Given the description of an element on the screen output the (x, y) to click on. 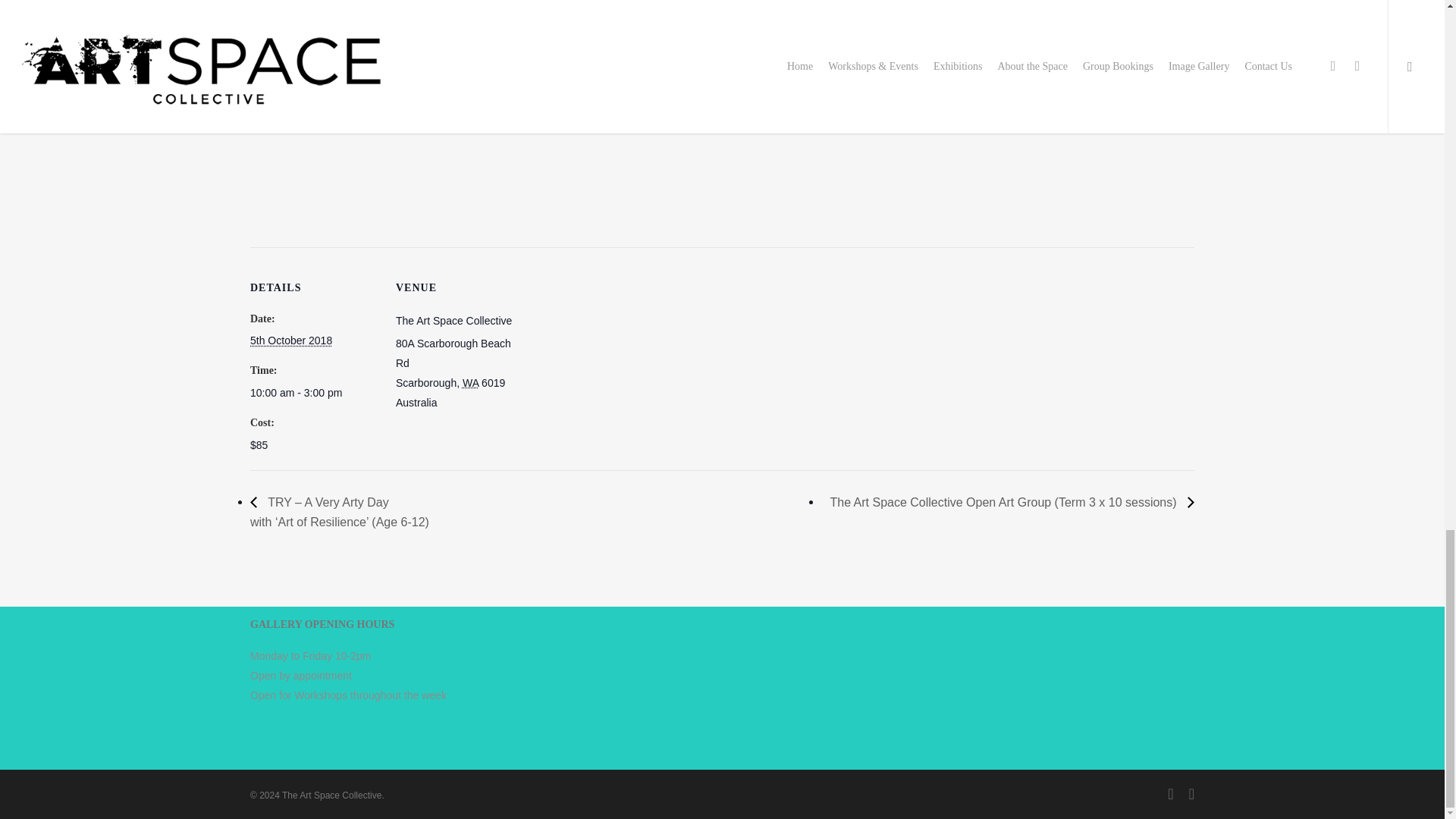
2018-10-05 (313, 392)
Washington (471, 382)
2018-10-05 (290, 340)
